Given the description of an element on the screen output the (x, y) to click on. 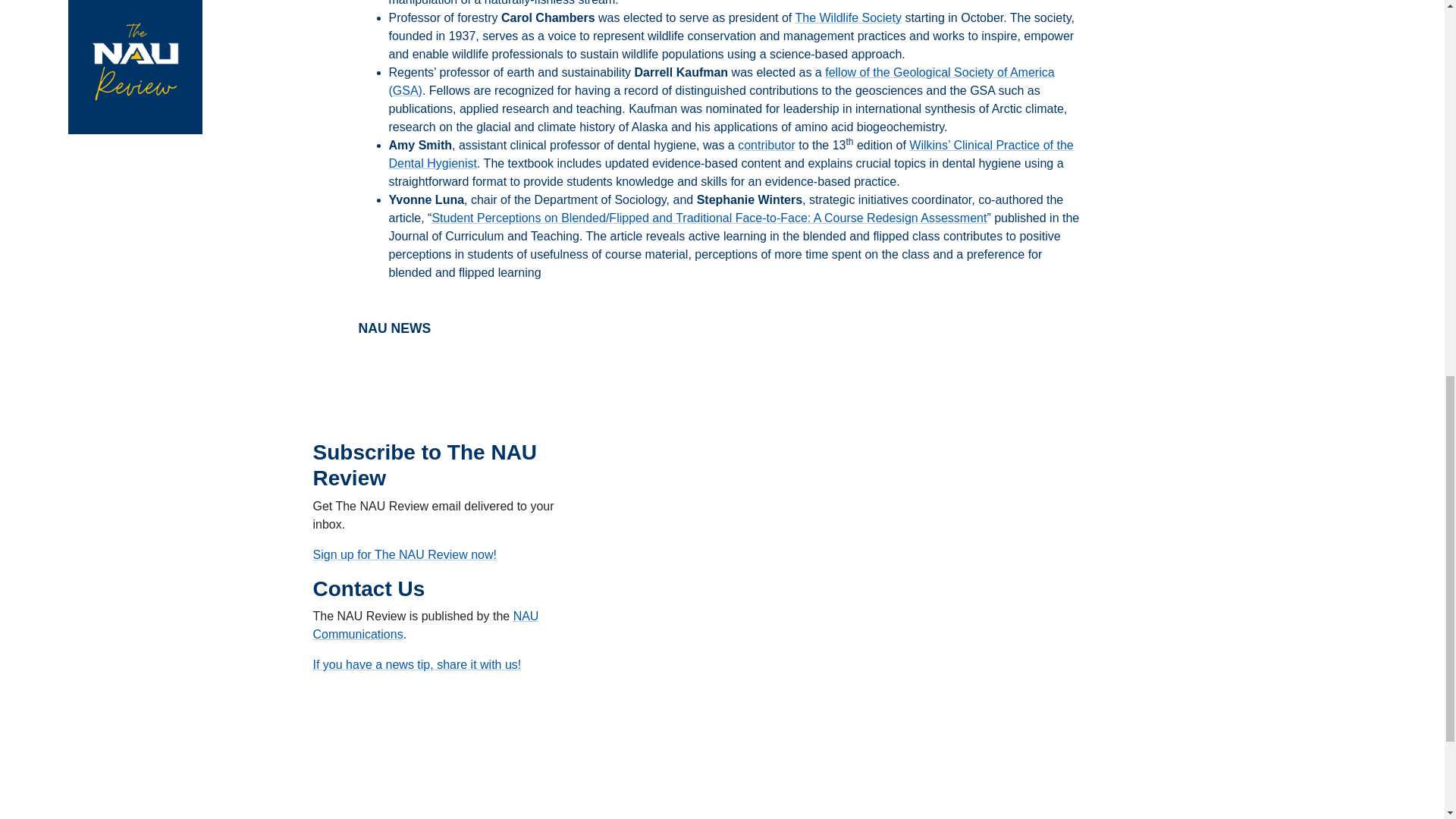
contributor (766, 144)
The Wildlife Society (847, 17)
